Given the description of an element on the screen output the (x, y) to click on. 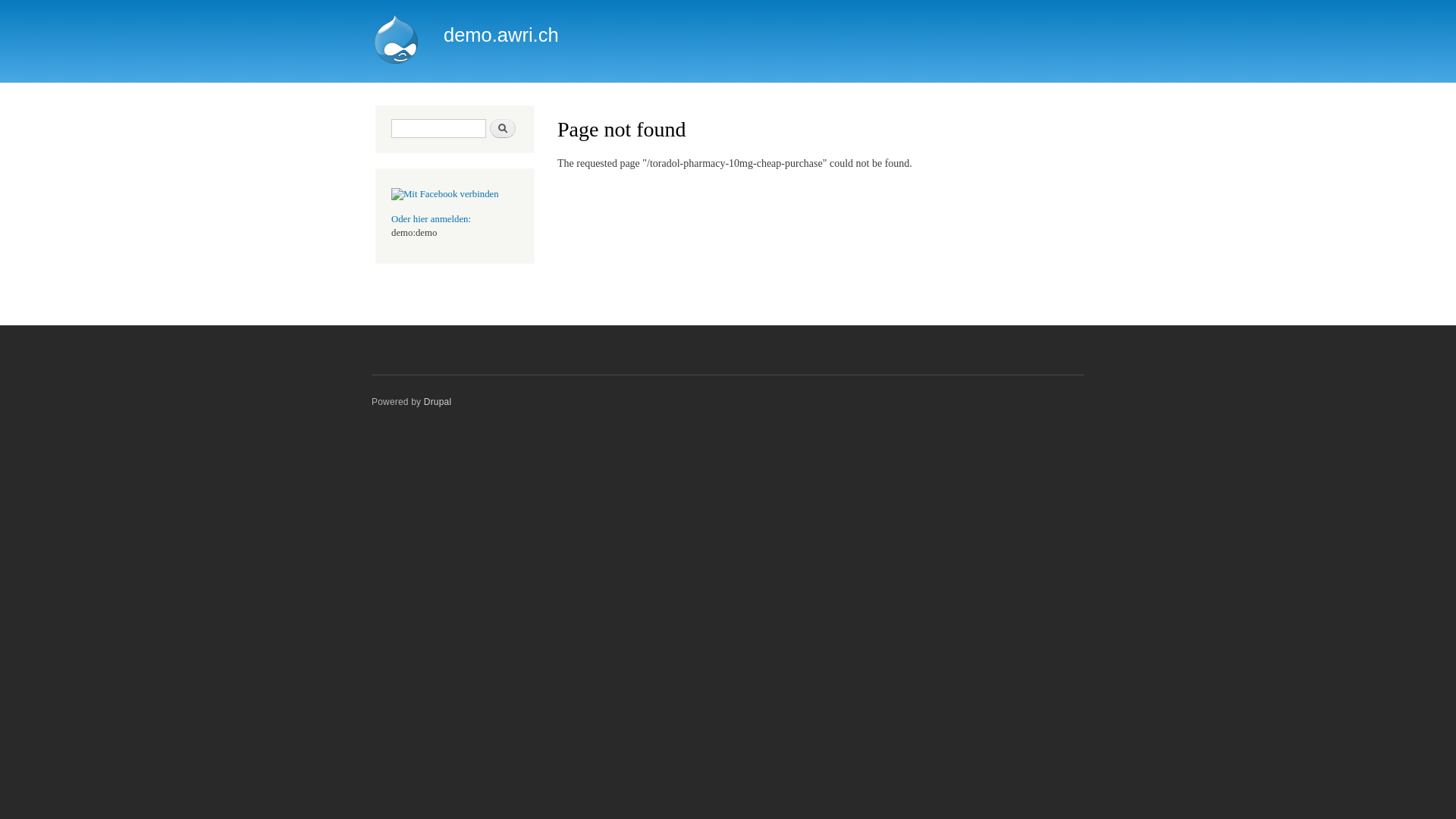
Skip to main content Element type: text (695, 1)
Oder hier anmelden: Element type: text (430, 218)
Drupal Element type: text (437, 401)
Enter the terms you wish to search for. Element type: hover (438, 128)
Home Element type: hover (398, 41)
Search Element type: text (502, 128)
demo.awri.ch Element type: text (500, 34)
